Given the description of an element on the screen output the (x, y) to click on. 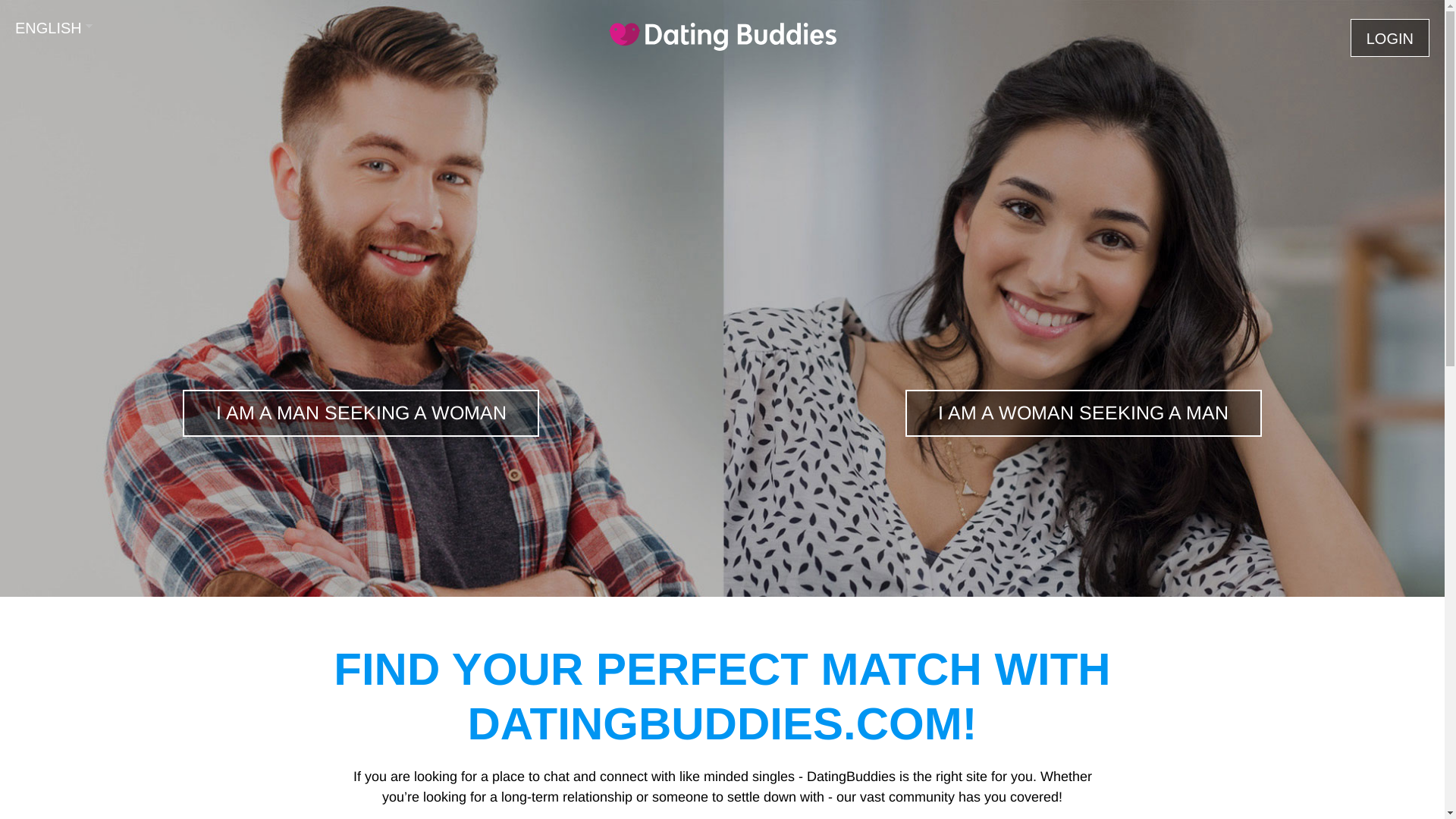
LOGIN Element type: text (1389, 37)
